Given the description of an element on the screen output the (x, y) to click on. 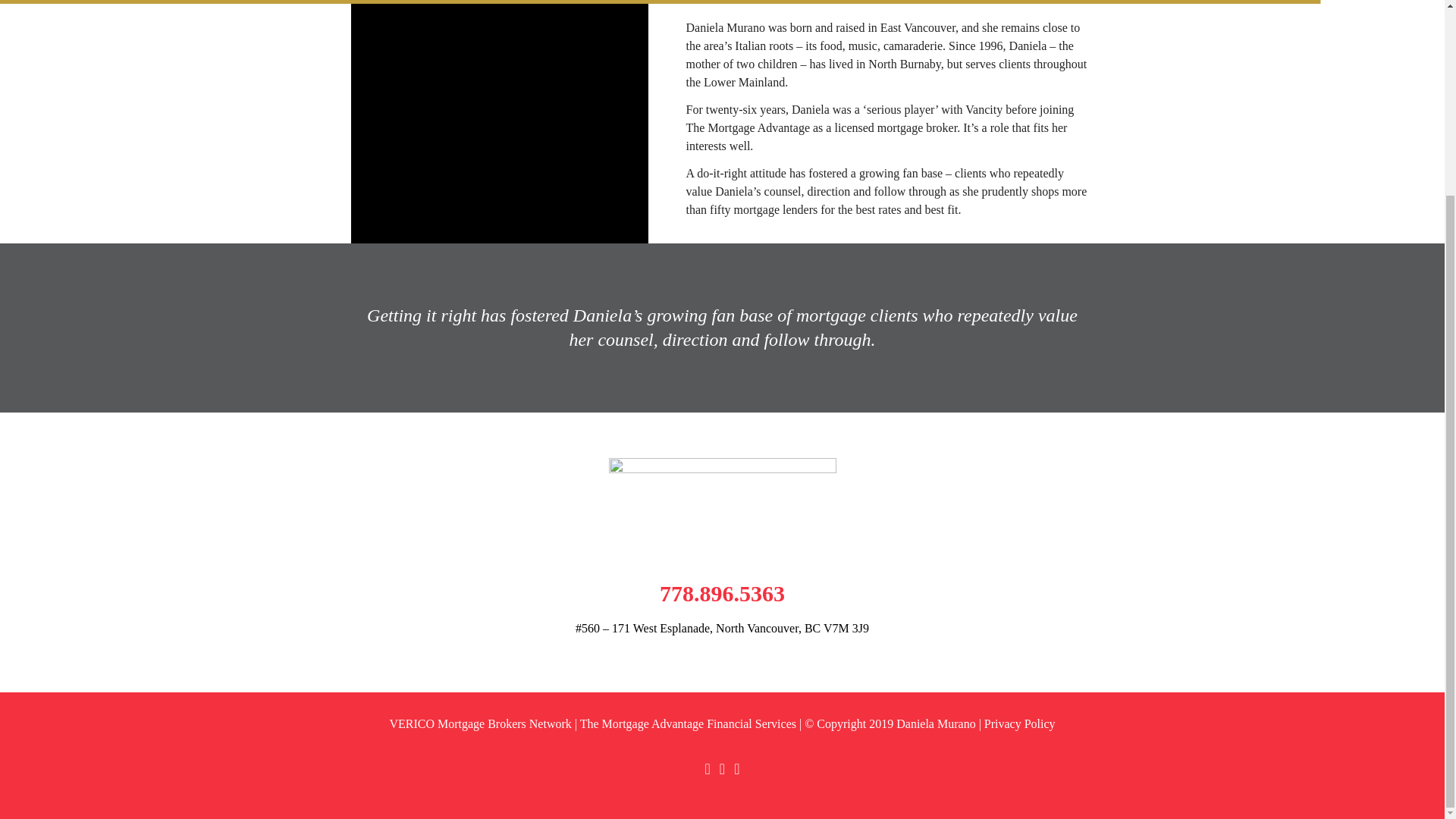
VERICO Mortgage Brokers Network (479, 723)
The Mortgage Advantage Financial Services (687, 723)
Privacy Policy (1019, 723)
778.896.5363 (721, 593)
